Given the description of an element on the screen output the (x, y) to click on. 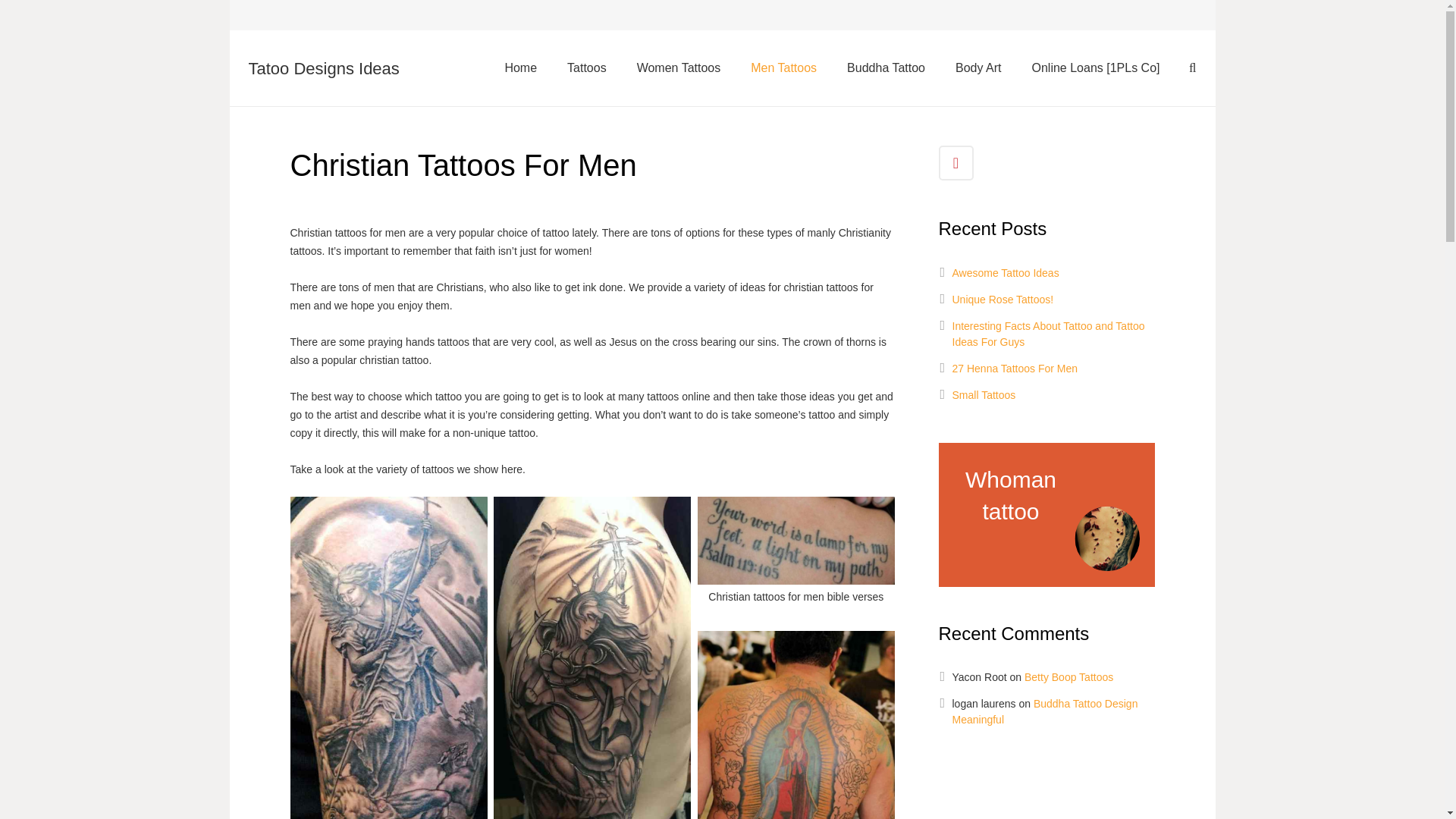
Christian tattoos for men bible verses (796, 552)
Christian tattoos for men Virgin Guadalupe (796, 723)
Christian tattoos for men Virgin Guadalupe (796, 723)
Home (520, 67)
Body Art (978, 67)
Tatoo Designs Ideas (323, 67)
Men Tattoos (783, 67)
Tattoos (586, 67)
Woman tattoo gesign (1046, 515)
Buddha Tattoo (885, 67)
Women Tattoos (678, 67)
Christian tattoos for men bible verses (796, 552)
